Given the description of an element on the screen output the (x, y) to click on. 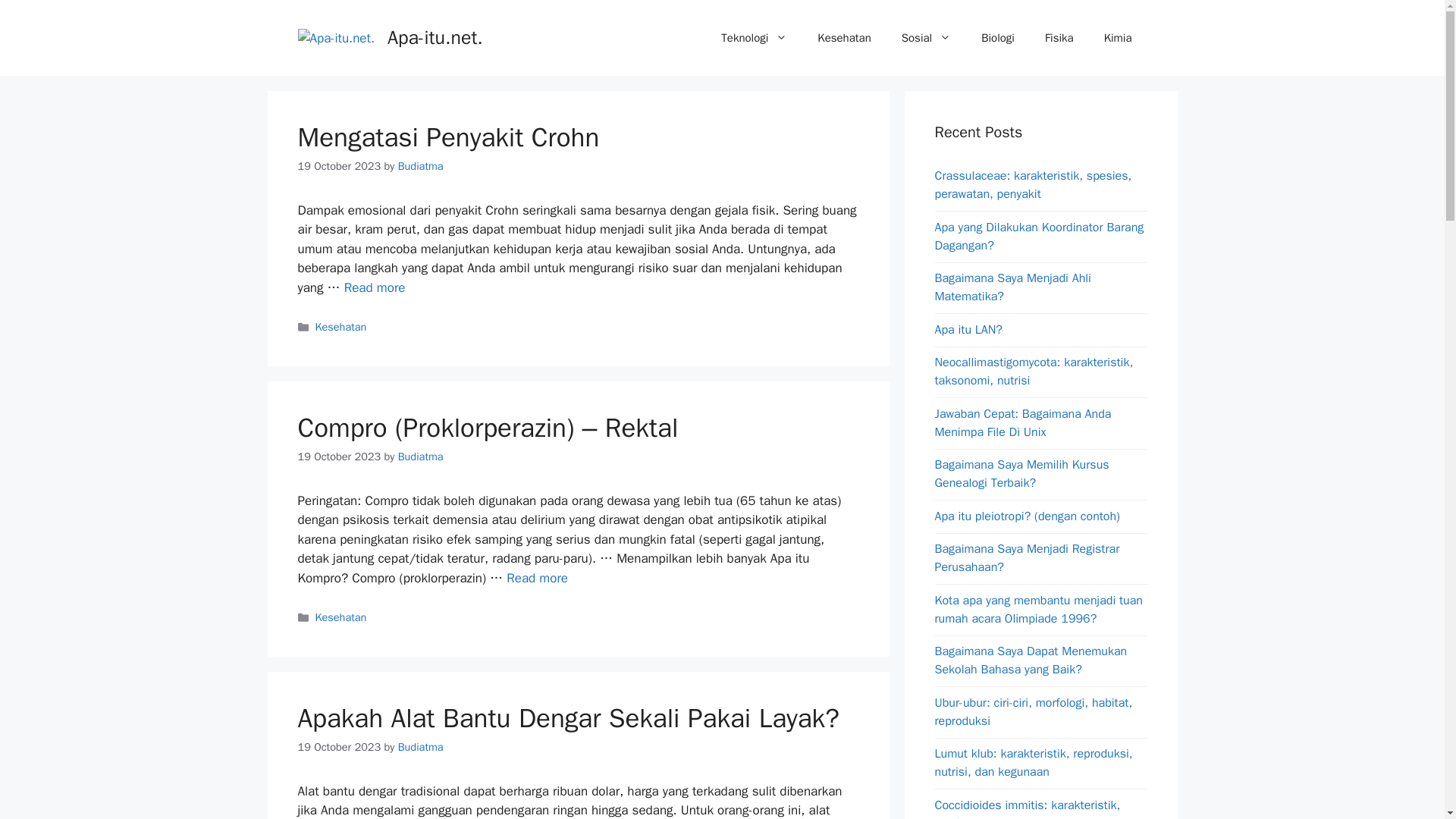
Kesehatan (340, 326)
Mengatasi Penyakit Crohn (447, 136)
Budiatma (420, 746)
Teknologi (754, 37)
Apa-itu.net. (435, 37)
Sosial (926, 37)
Read more (536, 578)
Read more (374, 287)
Kesehatan (843, 37)
Biologi (997, 37)
